Given the description of an element on the screen output the (x, y) to click on. 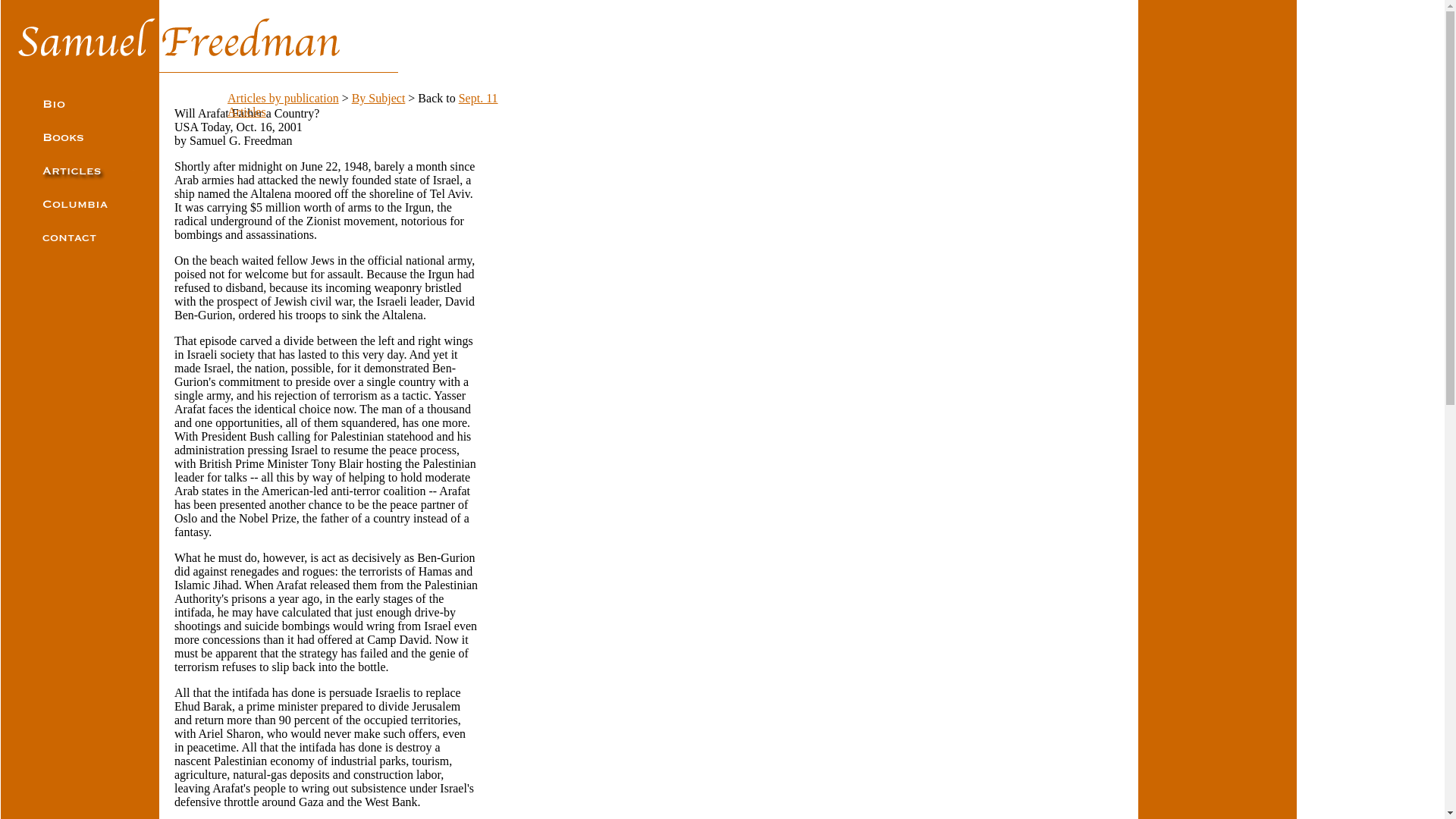
Articles by publication (283, 97)
By Subject (379, 97)
Sept. 11 Articles (362, 104)
